Given the description of an element on the screen output the (x, y) to click on. 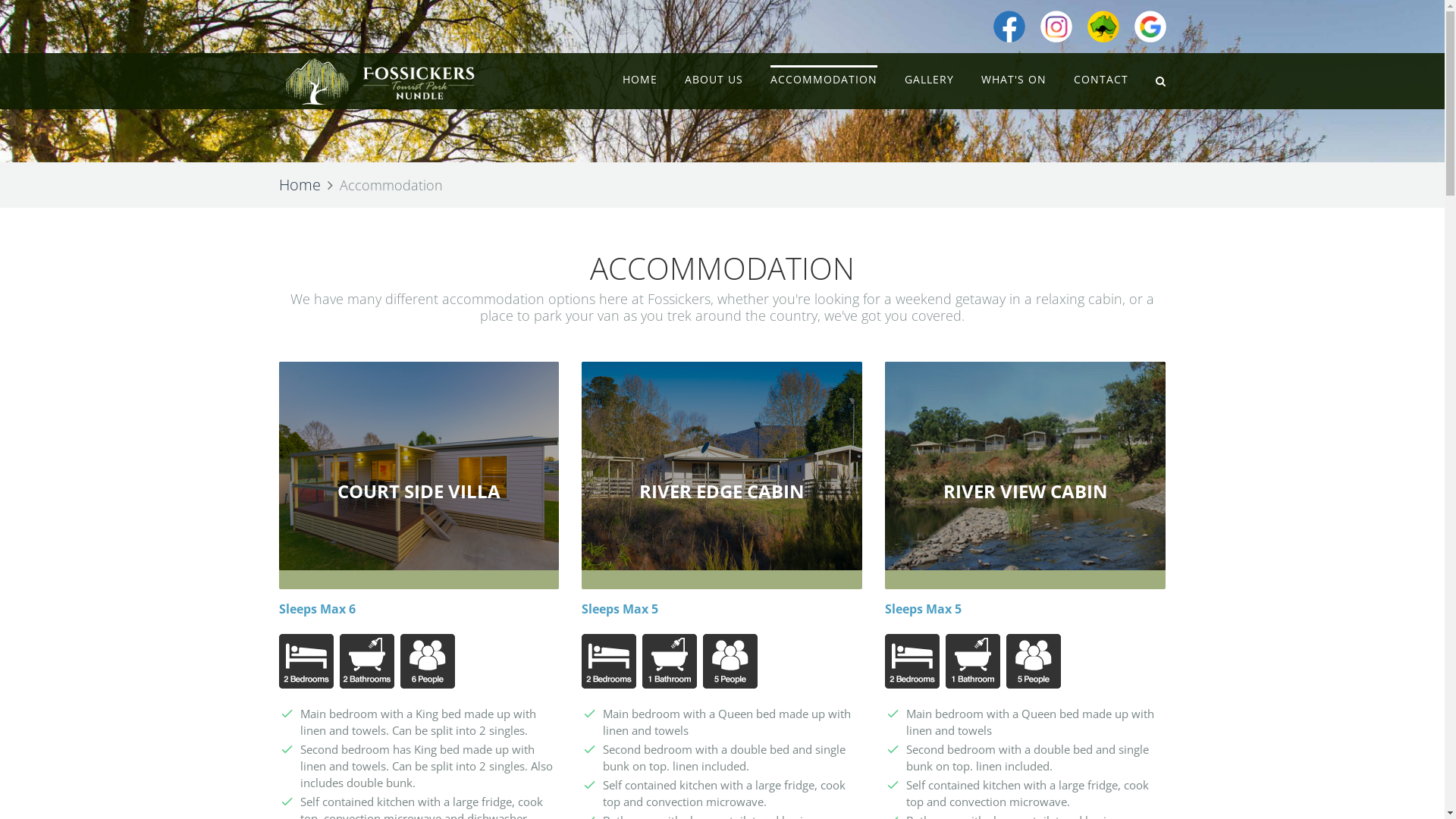
Home Element type: text (299, 184)
RIVER EDGE CABIN Element type: text (721, 490)
ABOUT US Element type: text (713, 79)
ACCOMMODATION Element type: text (823, 79)
COURT SIDE VILLA Element type: text (418, 490)
RIVER VIEW CABIN Element type: text (1025, 490)
CONTACT Element type: text (1100, 79)
HOME Element type: text (639, 79)
WHAT'S ON Element type: text (1013, 79)
GALLERY Element type: text (928, 79)
